Given the description of an element on the screen output the (x, y) to click on. 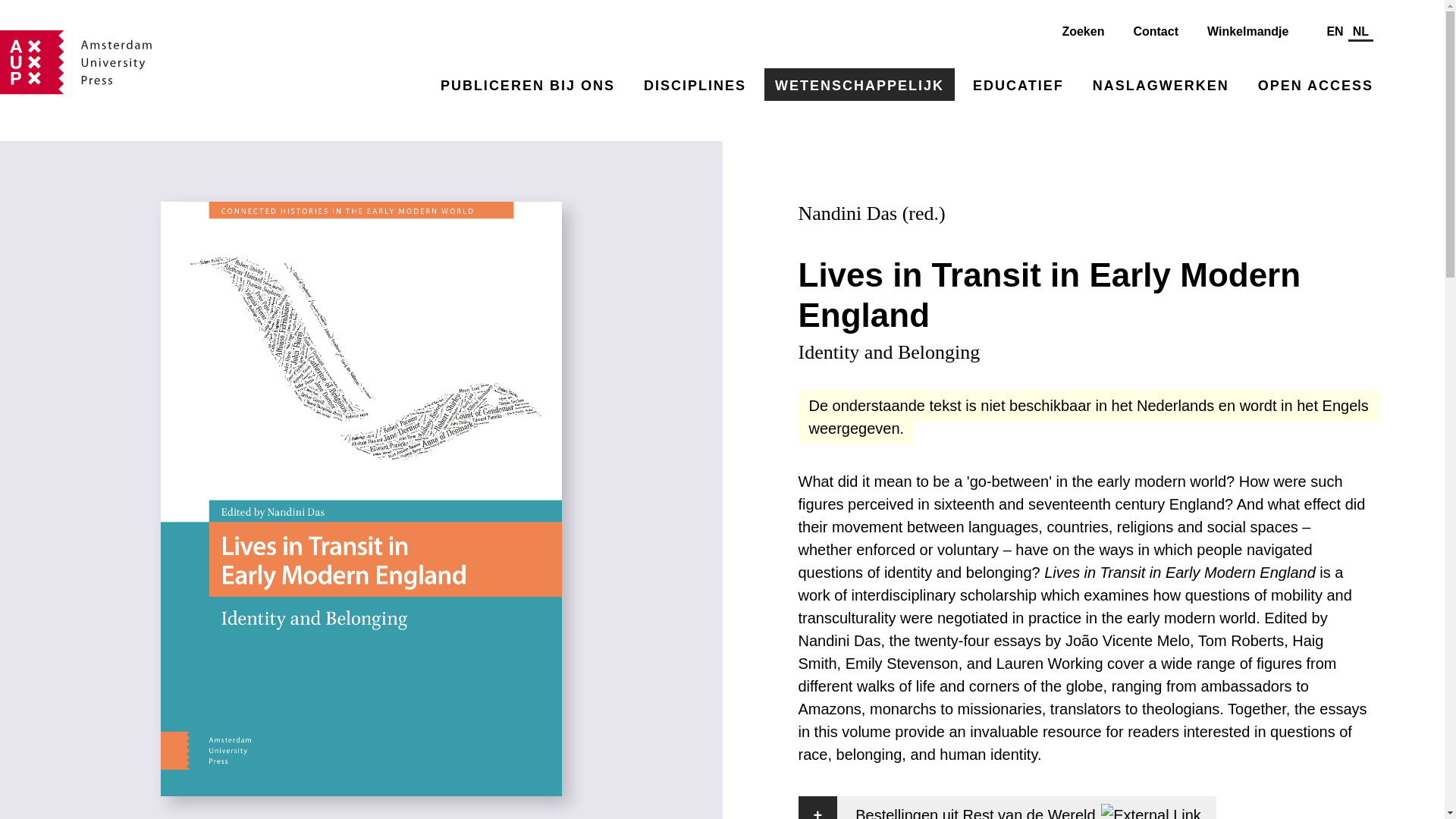
PUBLICEREN BIJ ONS (527, 83)
DISCIPLINES (695, 83)
EDUCATIEF (1018, 83)
NASLAGWERKEN (1160, 83)
WETENSCHAPPELIJK (859, 83)
Amsterdam University Press (75, 62)
